Given the description of an element on the screen output the (x, y) to click on. 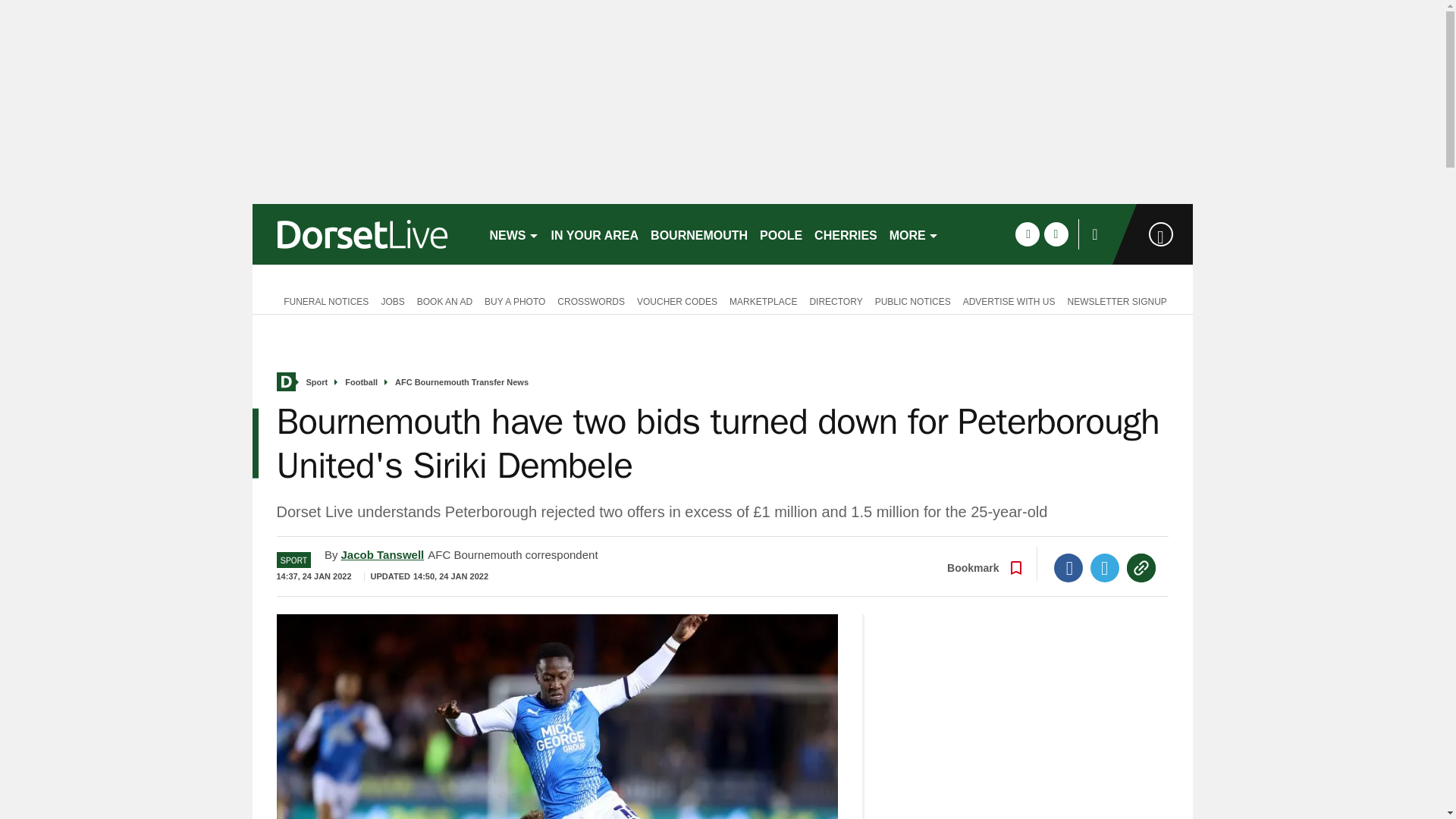
IN YOUR AREA (594, 233)
MARKETPLACE (763, 300)
MORE (913, 233)
JOBS (392, 300)
Twitter (1104, 567)
BUY A PHOTO (515, 300)
DIRECTORY (835, 300)
twitter (1055, 233)
CHERRIES (845, 233)
NEWS (513, 233)
dorsetlive (363, 233)
Facebook (1068, 567)
FUNERAL NOTICES (322, 300)
POOLE (781, 233)
VOUCHER CODES (676, 300)
